Given the description of an element on the screen output the (x, y) to click on. 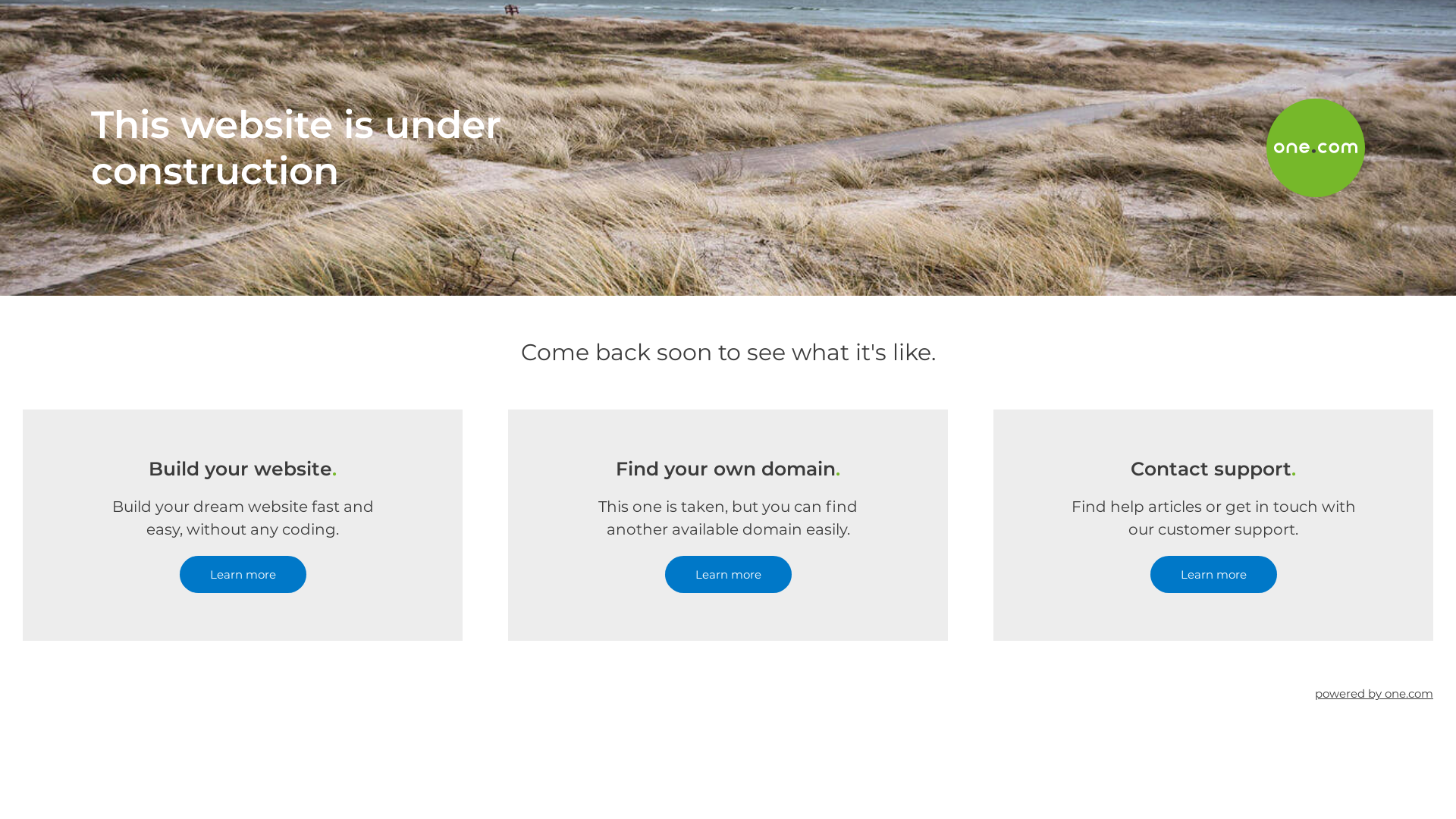
Learn more Element type: text (1212, 574)
Learn more Element type: text (727, 574)
powered by one.com Element type: text (1373, 693)
Learn more Element type: text (241, 574)
